Given the description of an element on the screen output the (x, y) to click on. 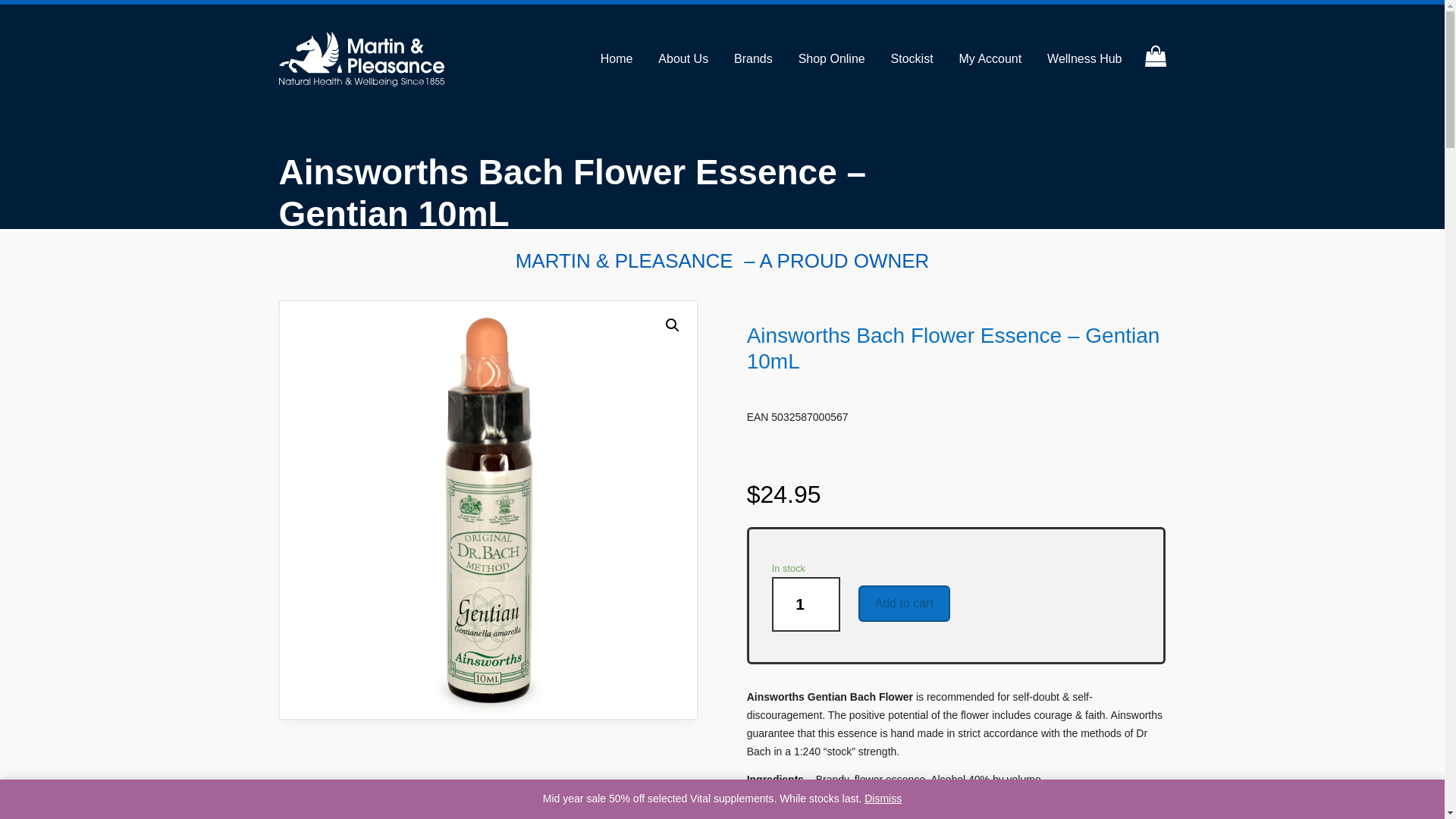
1 (805, 604)
Qty (805, 604)
